Given the description of an element on the screen output the (x, y) to click on. 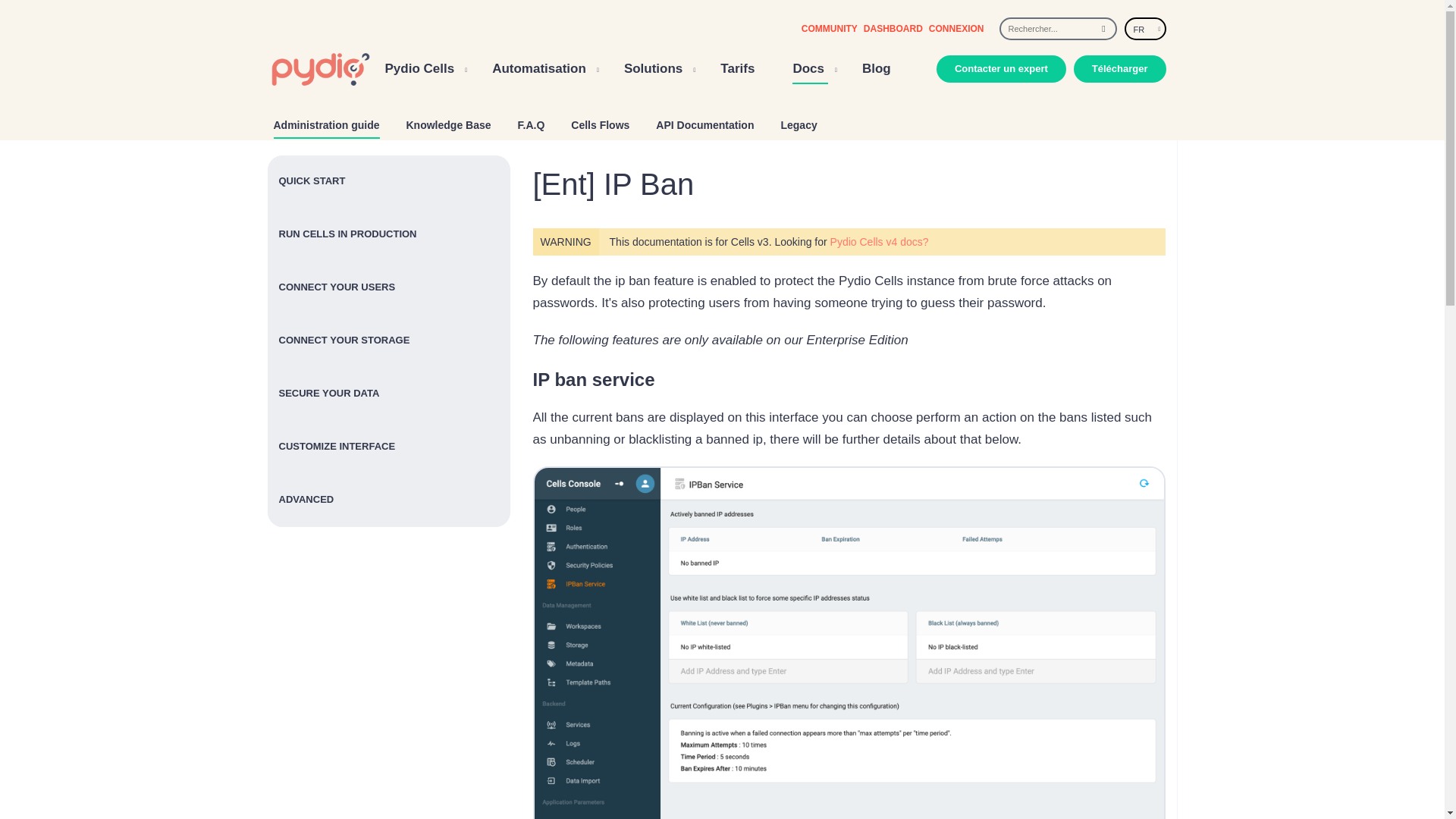
Administration guide (325, 122)
RUN CELLS IN PRODUCTION (387, 234)
Knowledge Base (449, 121)
Cells Flows (599, 121)
Legacy (798, 121)
Rechercher (1103, 28)
Pydio Cells v4 docs? (878, 241)
API Documentation (705, 121)
QUICK START (387, 181)
